Given the description of an element on the screen output the (x, y) to click on. 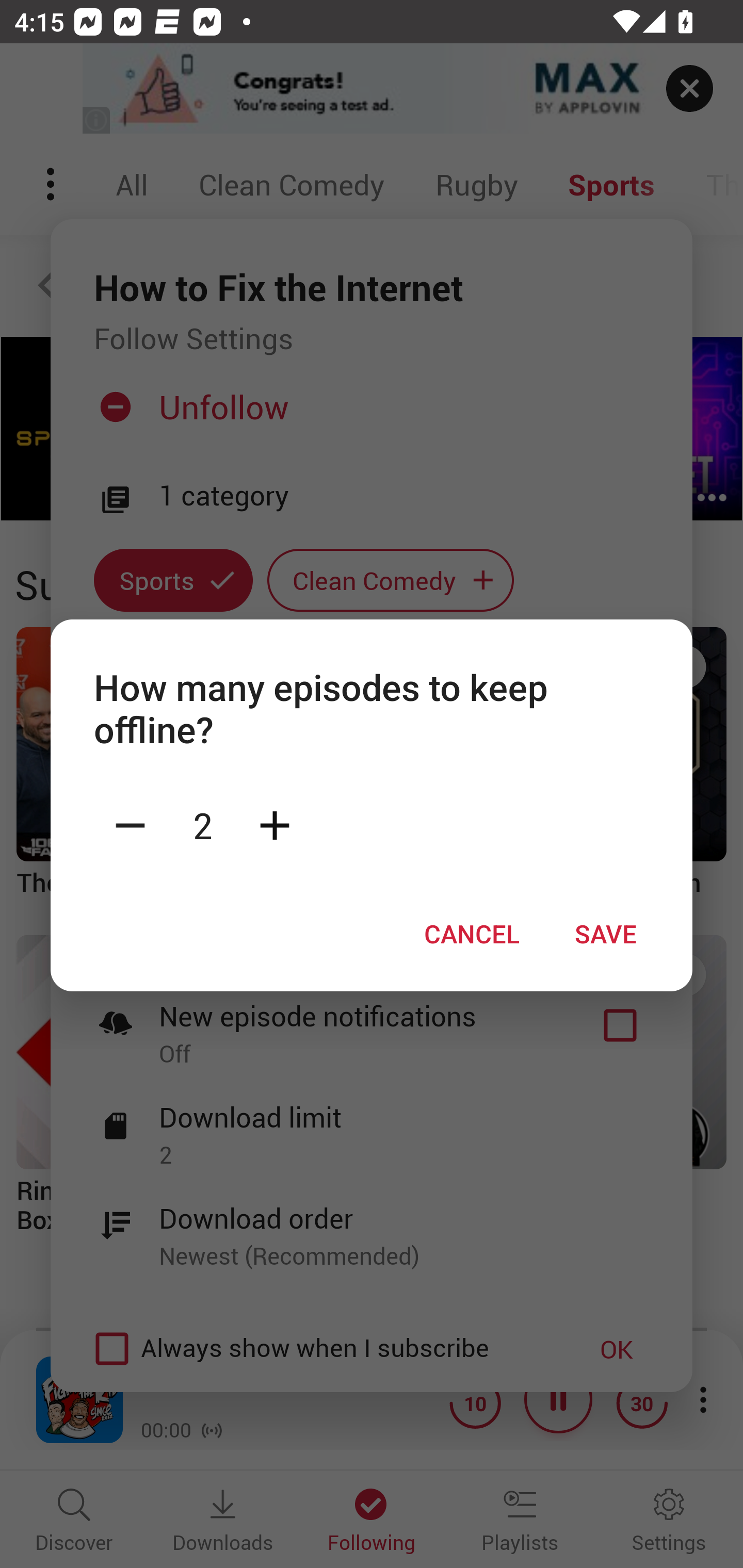
Minus (129, 824)
Plus (274, 824)
CANCEL (470, 933)
SAVE (605, 933)
